Given the description of an element on the screen output the (x, y) to click on. 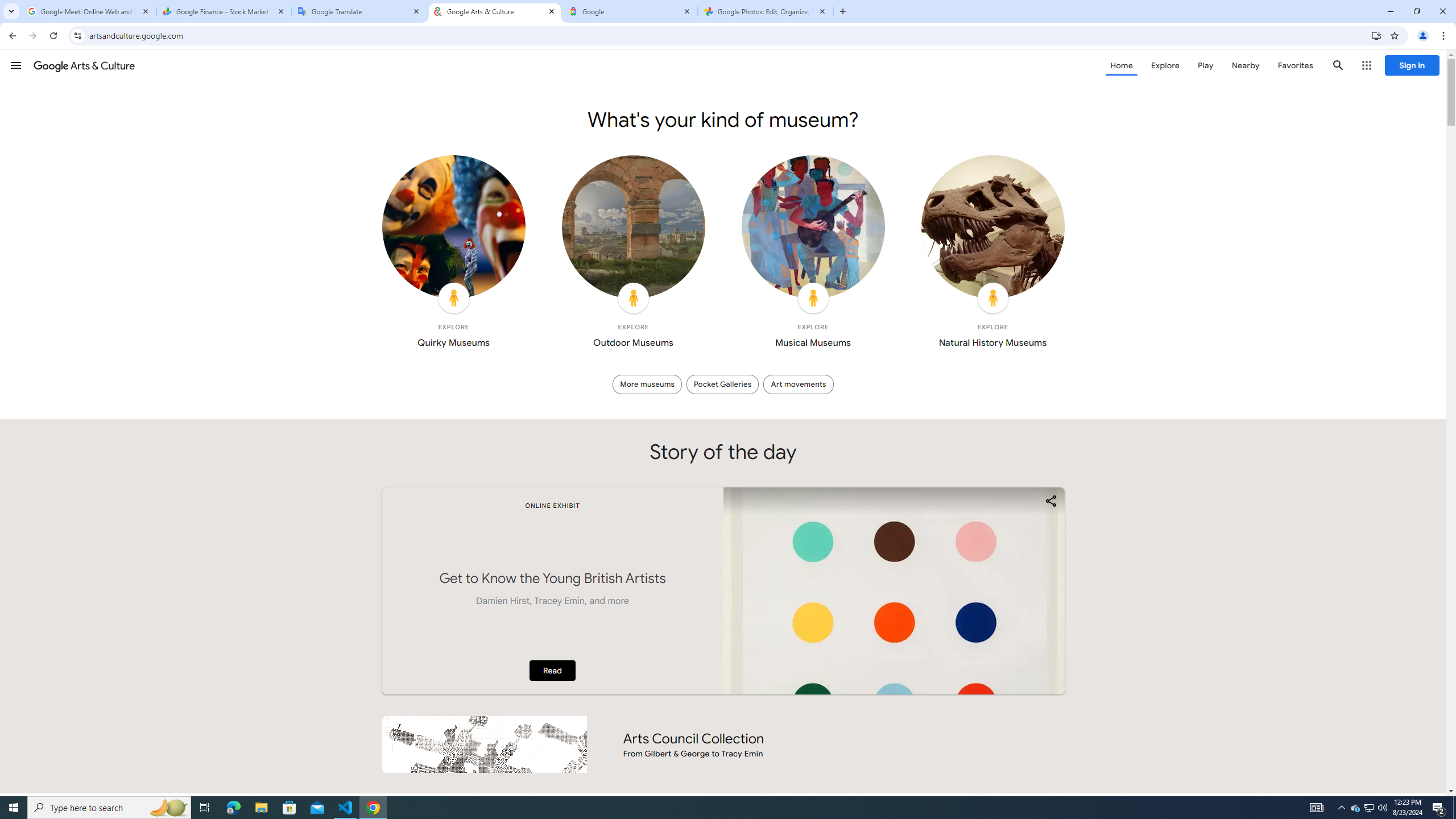
Google Translate (359, 11)
Google Arts & Culture (494, 11)
Install Google Arts & Culture (1376, 35)
